Given the description of an element on the screen output the (x, y) to click on. 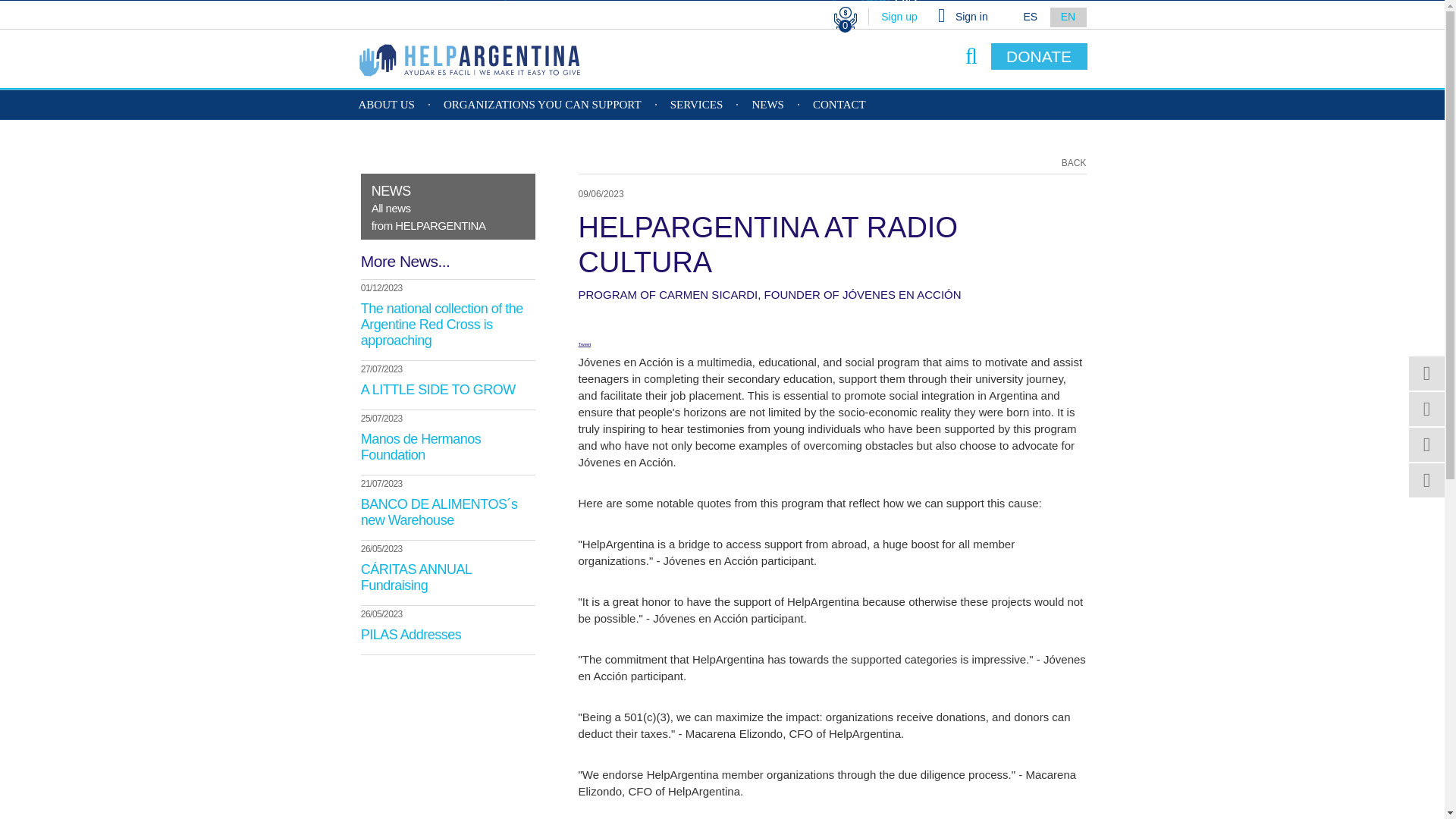
NEWS (767, 104)
EN (1068, 16)
Sign up (898, 16)
Tweet (584, 343)
ORGANIZATIONS YOU CAN SUPPORT (448, 206)
CONTACT (543, 104)
BACK (839, 104)
DONATE (1073, 163)
Sign up (1038, 56)
EN (898, 16)
Sign in (1068, 16)
0 (971, 16)
ES (844, 26)
ES (1029, 16)
